Given the description of an element on the screen output the (x, y) to click on. 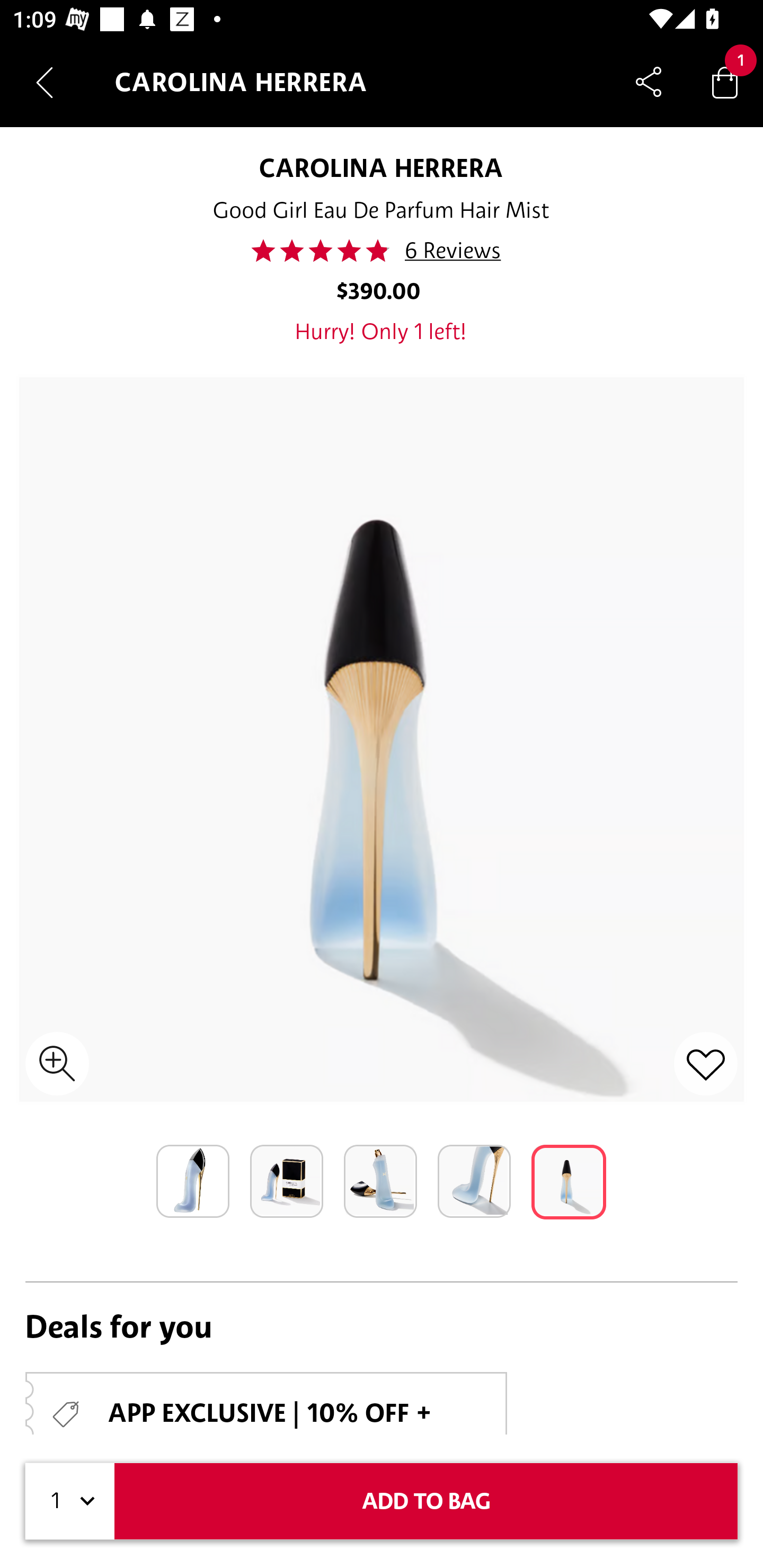
Navigate up (44, 82)
Share (648, 81)
Bag (724, 81)
CAROLINA HERRERA (381, 167)
48.0 6 Reviews (381, 250)
1 (69, 1500)
ADD TO BAG (425, 1500)
